Given the description of an element on the screen output the (x, y) to click on. 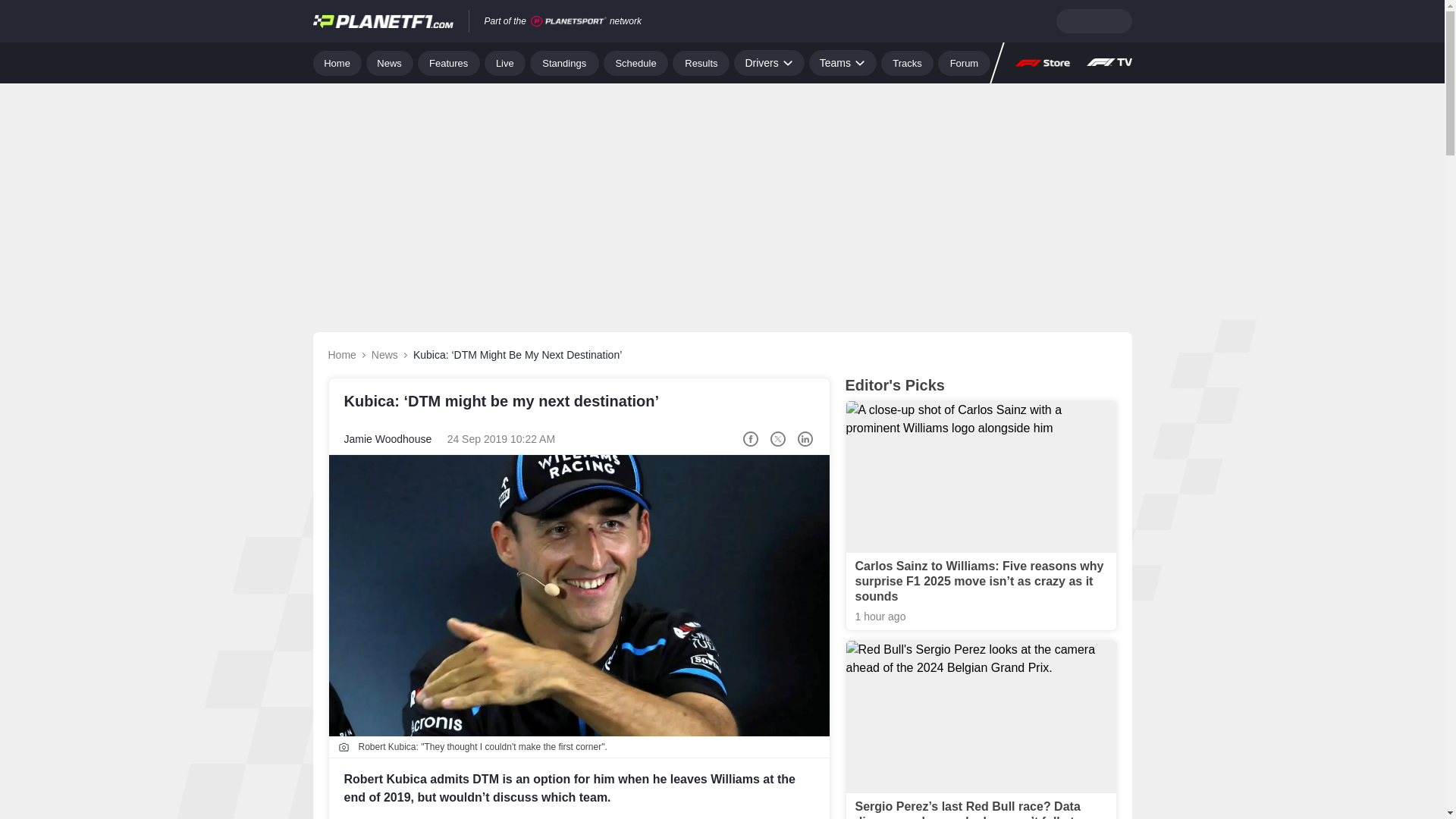
Features (448, 62)
Results (700, 62)
Home (337, 62)
Standings (563, 62)
Live (504, 62)
Schedule (636, 62)
News (389, 62)
Drivers (768, 62)
Teams (842, 62)
